Given the description of an element on the screen output the (x, y) to click on. 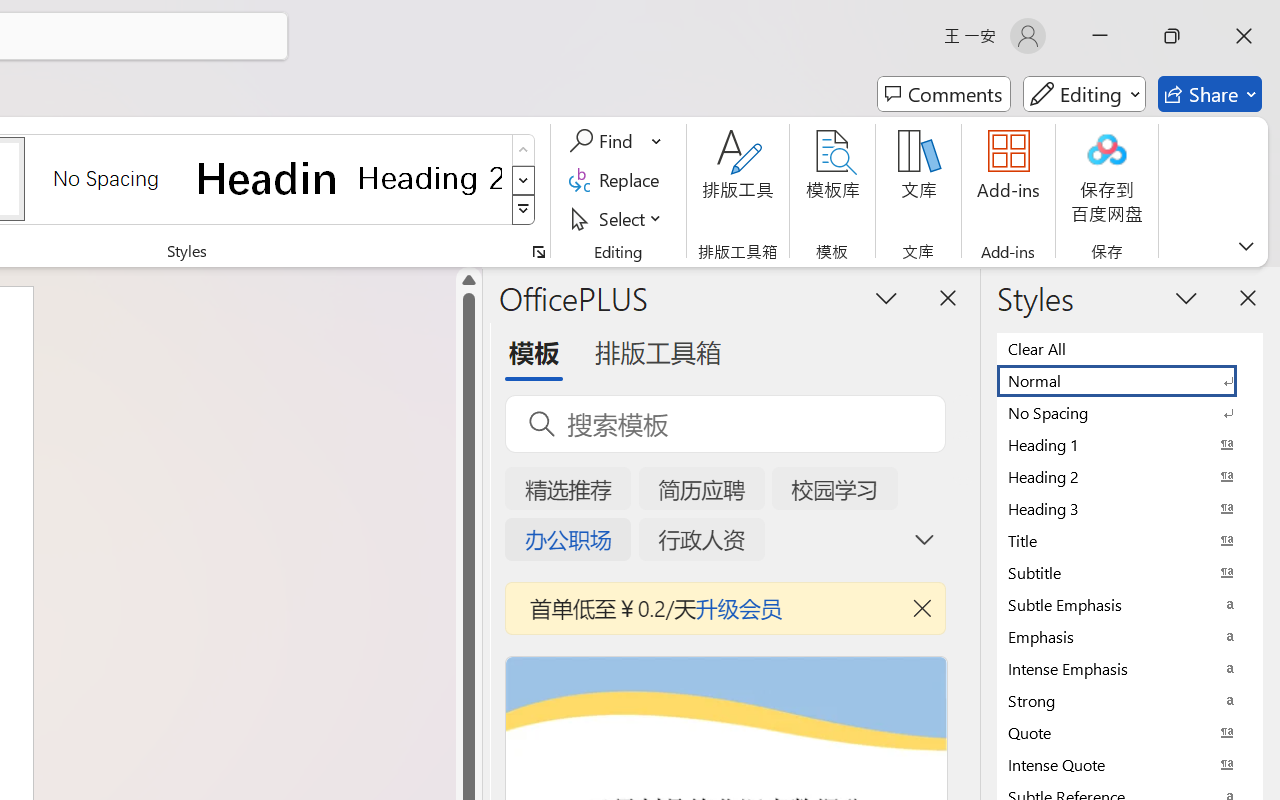
Clear All (1130, 348)
Row up (523, 150)
Heading 2 (429, 178)
Line up (468, 279)
